Given the description of an element on the screen output the (x, y) to click on. 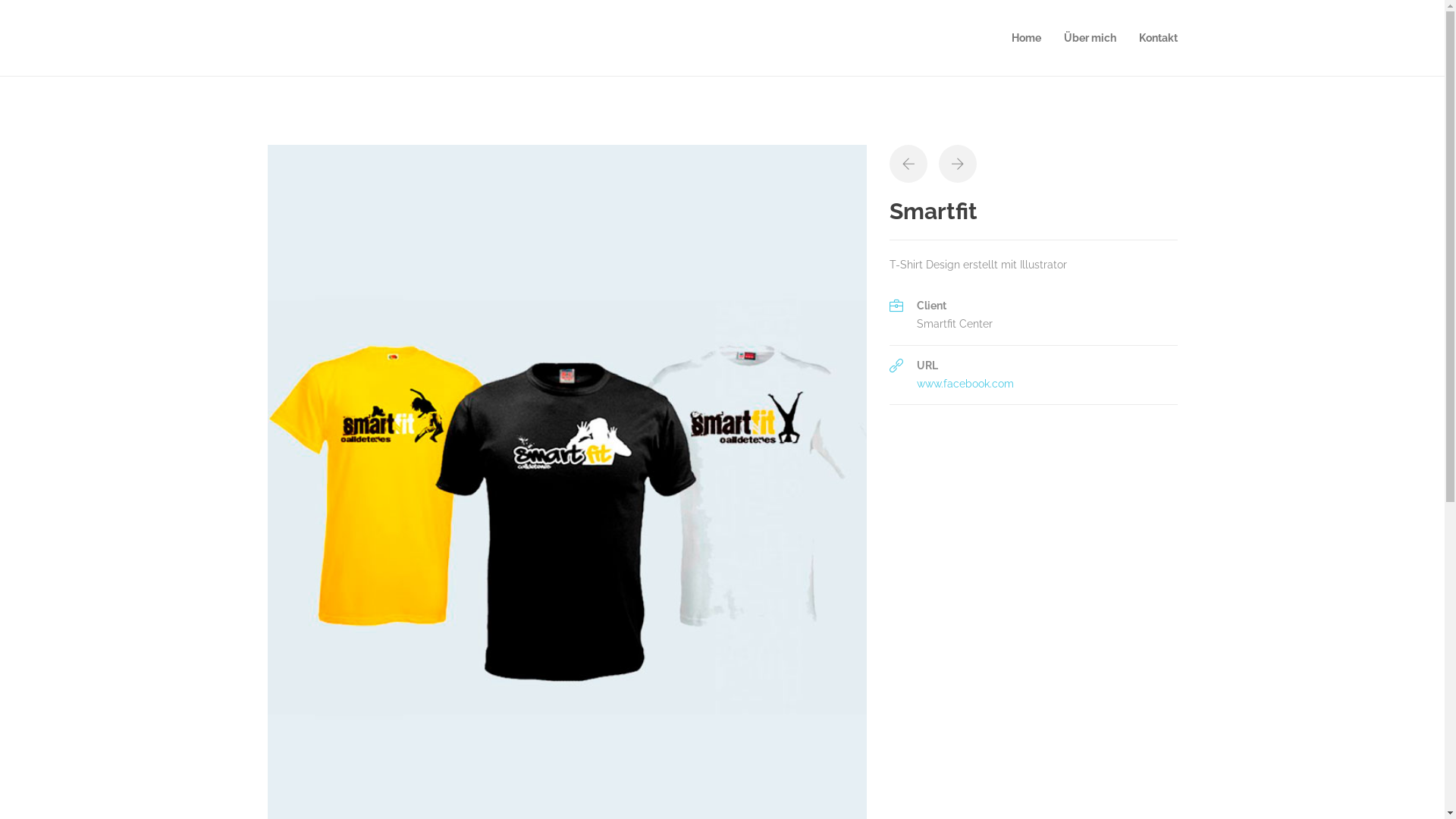
Home Element type: text (1026, 37)
ts4 Element type: hover (566, 575)
www.facebook.com Element type: text (964, 383)
Kontakt Element type: text (1158, 37)
